Given the description of an element on the screen output the (x, y) to click on. 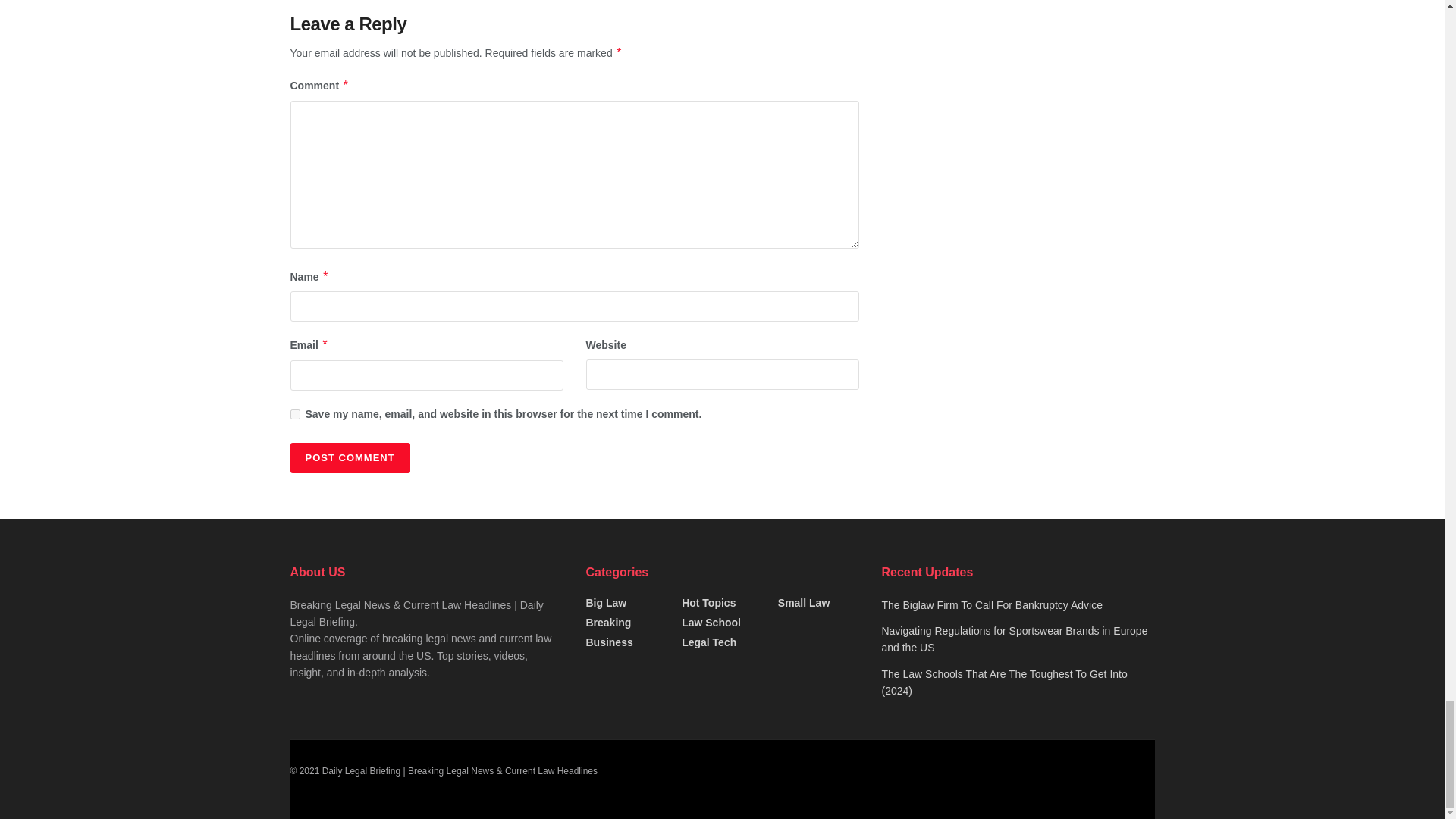
Post Comment (349, 458)
yes (294, 414)
